Given the description of an element on the screen output the (x, y) to click on. 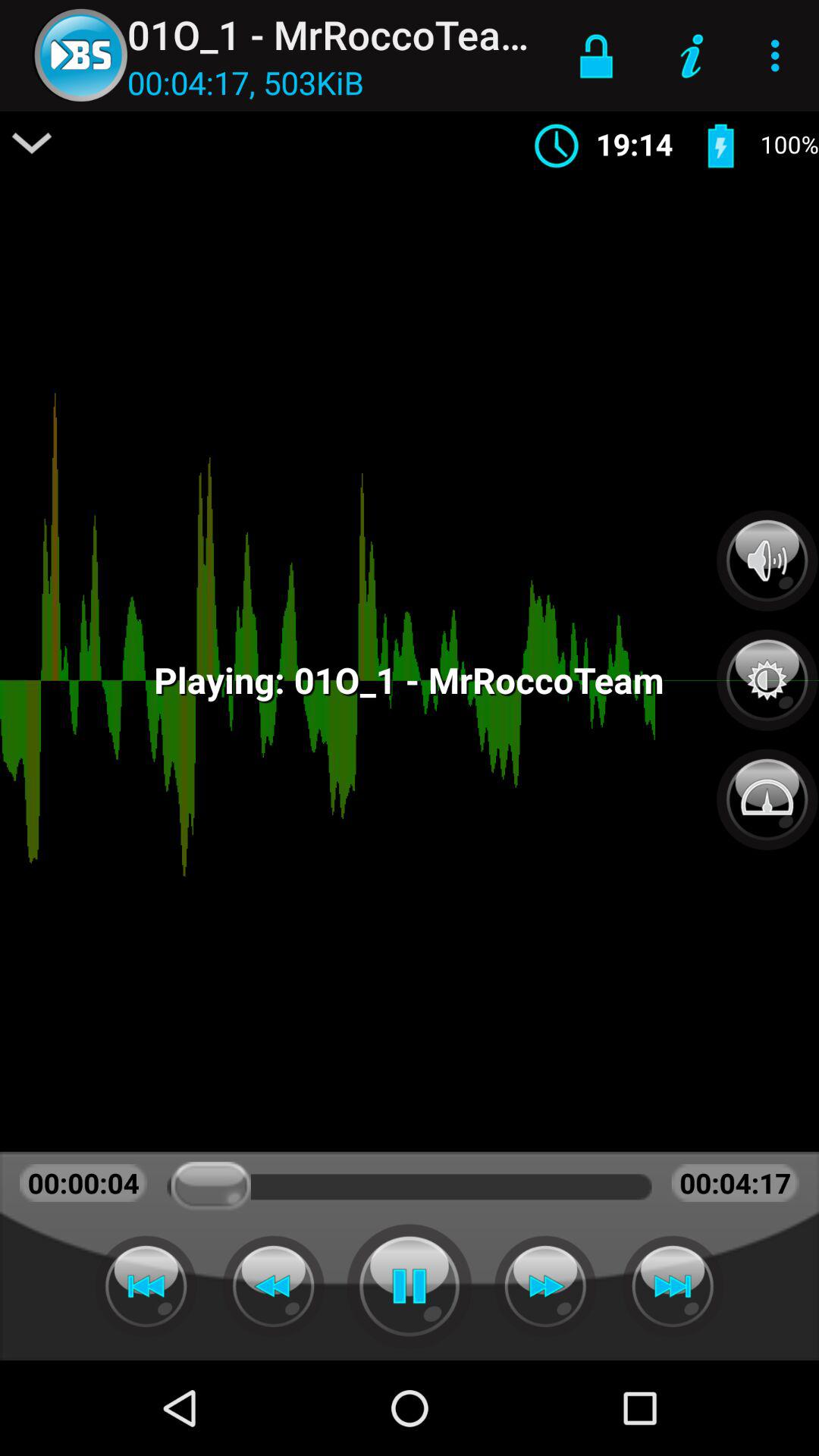
skip to the next item (672, 1286)
